Given the description of an element on the screen output the (x, y) to click on. 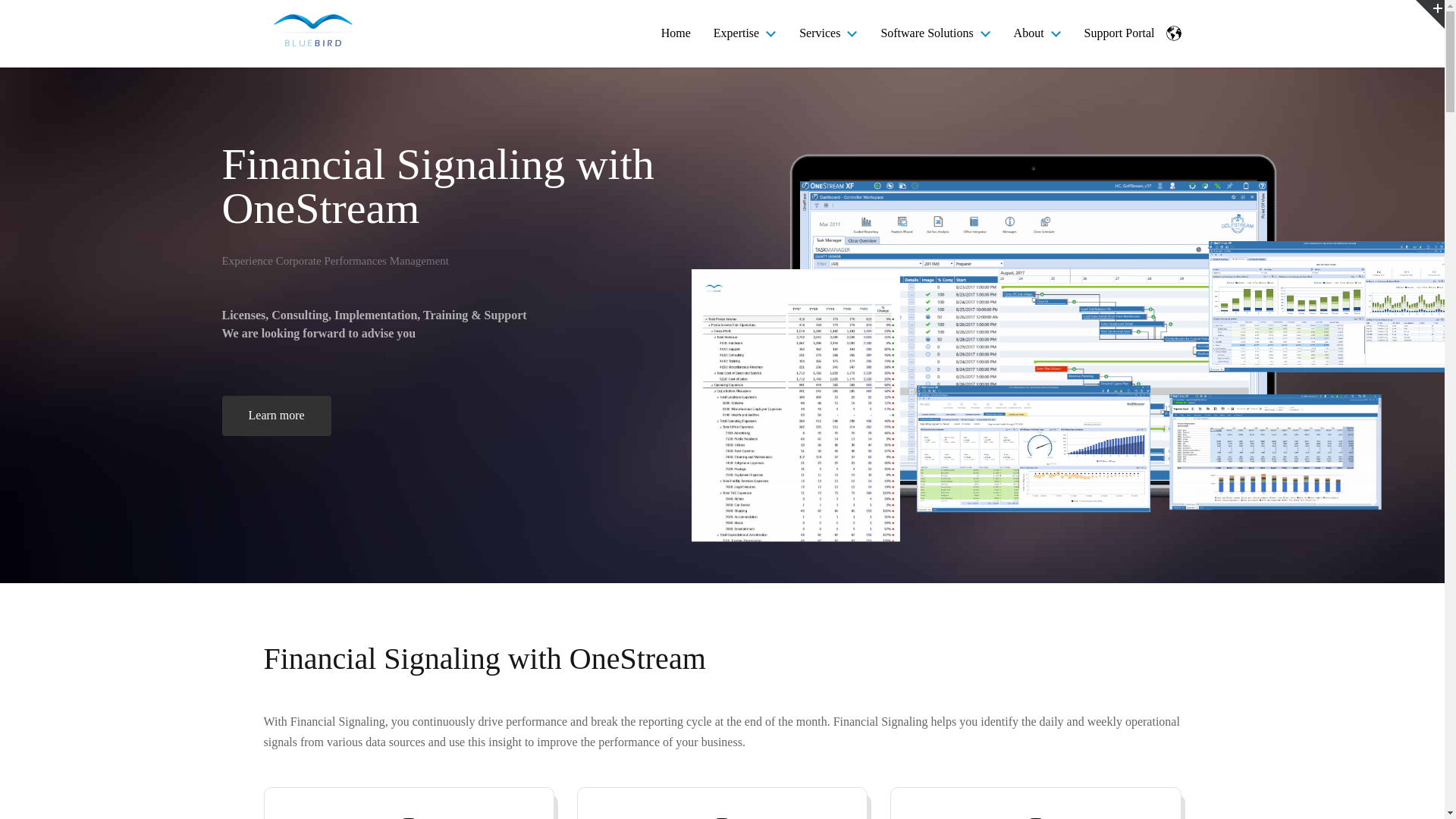
Services (819, 32)
Software Solutions (926, 32)
Home (675, 32)
Expertise (735, 32)
BLUEBIRD Consulting: Gemeinsam zum Projekterfolg (312, 29)
